Given the description of an element on the screen output the (x, y) to click on. 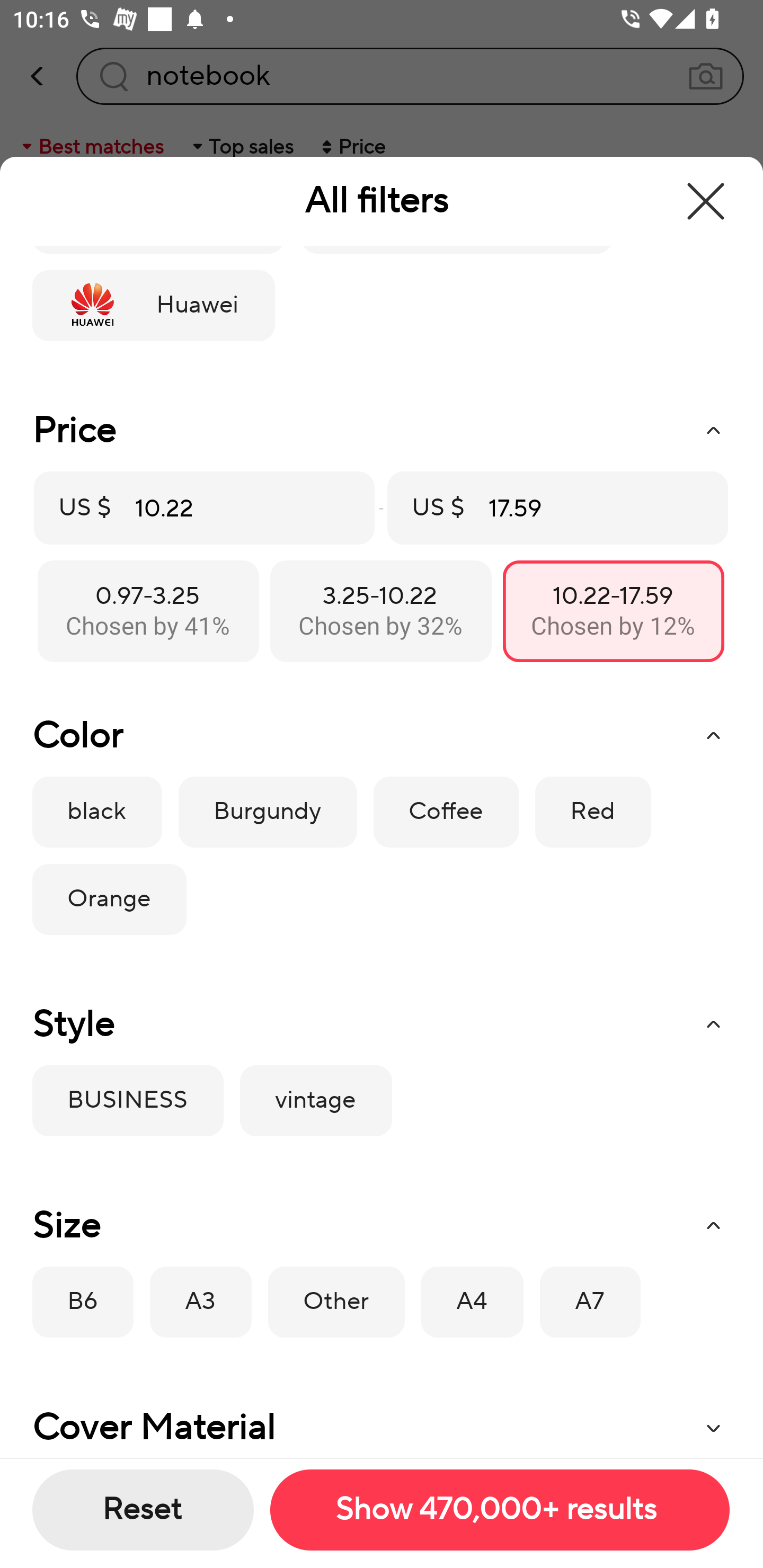
Huawei (153, 305)
Price (381, 430)
0.97-3.25 Chosen by 41% (148, 610)
3.25-10.22 Chosen by 32% (380, 610)
10.22-17.59 Chosen by 12% (613, 610)
Color (381, 736)
black (96, 812)
Burgundy (267, 812)
Coffee (445, 812)
Red (592, 812)
Orange (109, 898)
Style (381, 1024)
BUSINESS (127, 1100)
vintage (316, 1100)
Size (381, 1225)
B6 (82, 1301)
A3 (200, 1301)
Other (336, 1301)
A4 (472, 1301)
A7 (590, 1301)
Cover Material (381, 1421)
Reset (143, 1509)
Show 470,000+ results  (499, 1509)
